Given the description of an element on the screen output the (x, y) to click on. 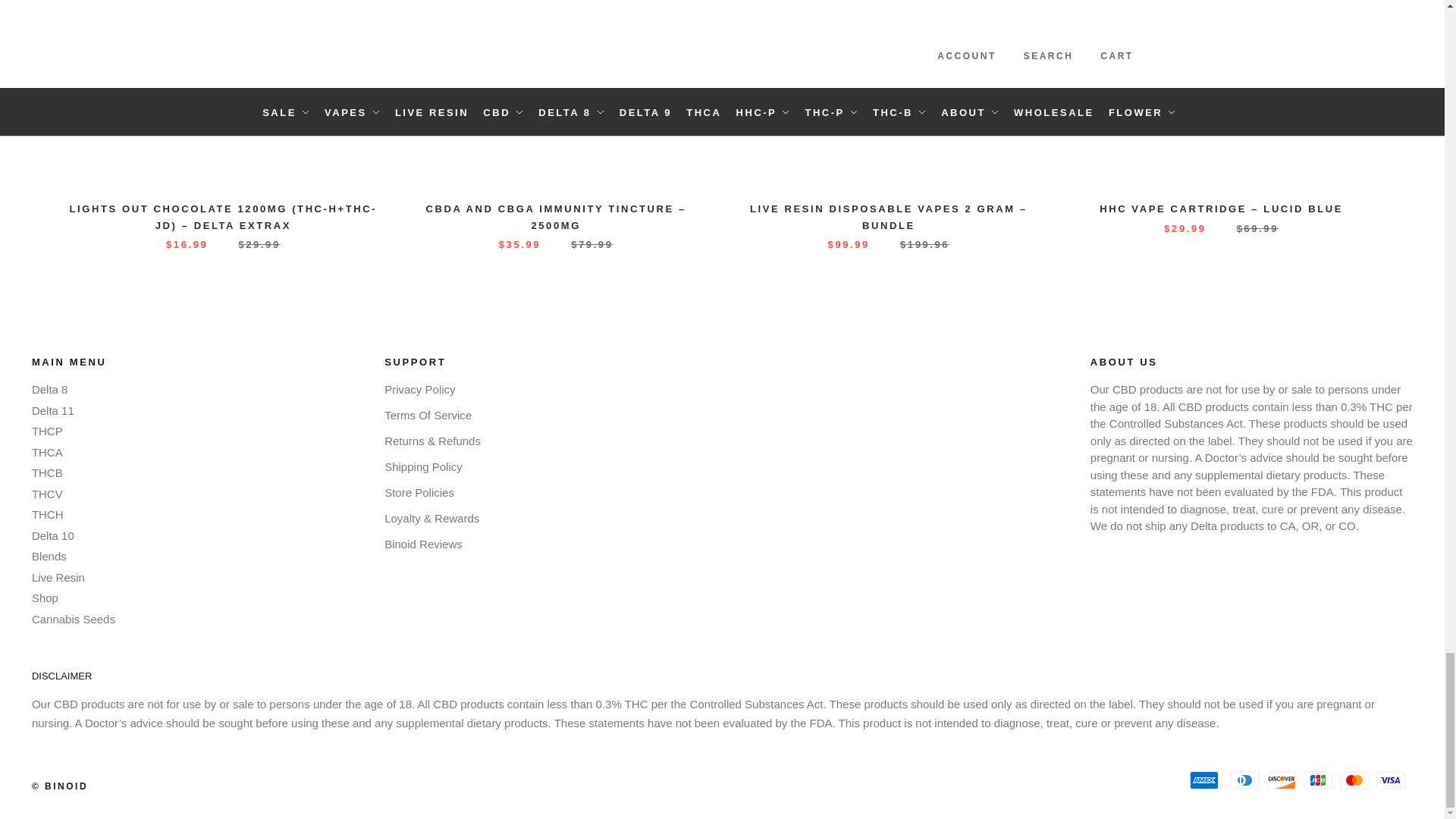
VISA (1390, 780)
DINERS CLUB (1244, 780)
JCB (1317, 780)
AMERICAN EXPRESS (1203, 780)
DISCOVER (1280, 780)
MASTERCARD (1353, 780)
